Given the description of an element on the screen output the (x, y) to click on. 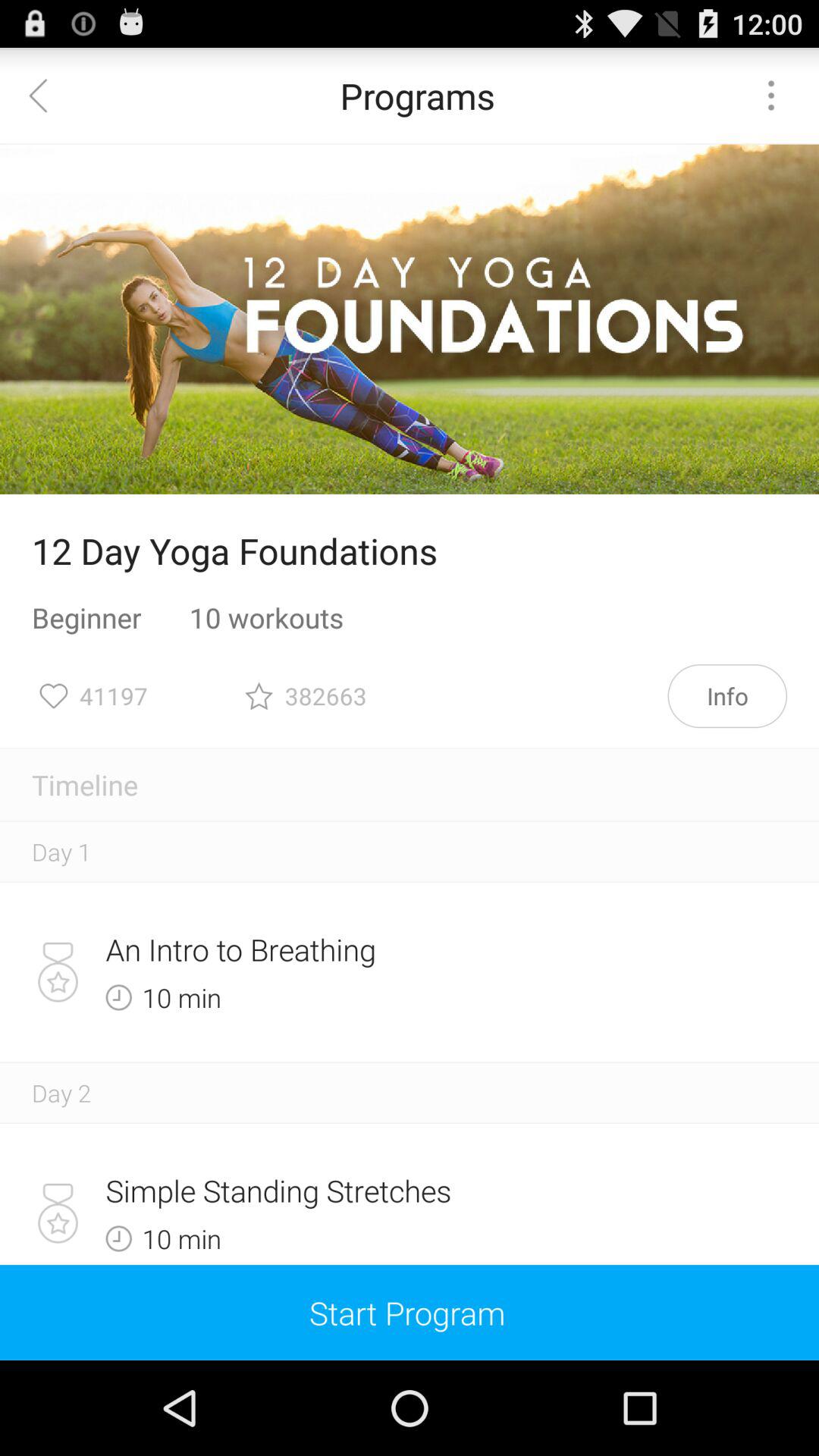
launch icon to the right of 382663 (727, 696)
